Given the description of an element on the screen output the (x, y) to click on. 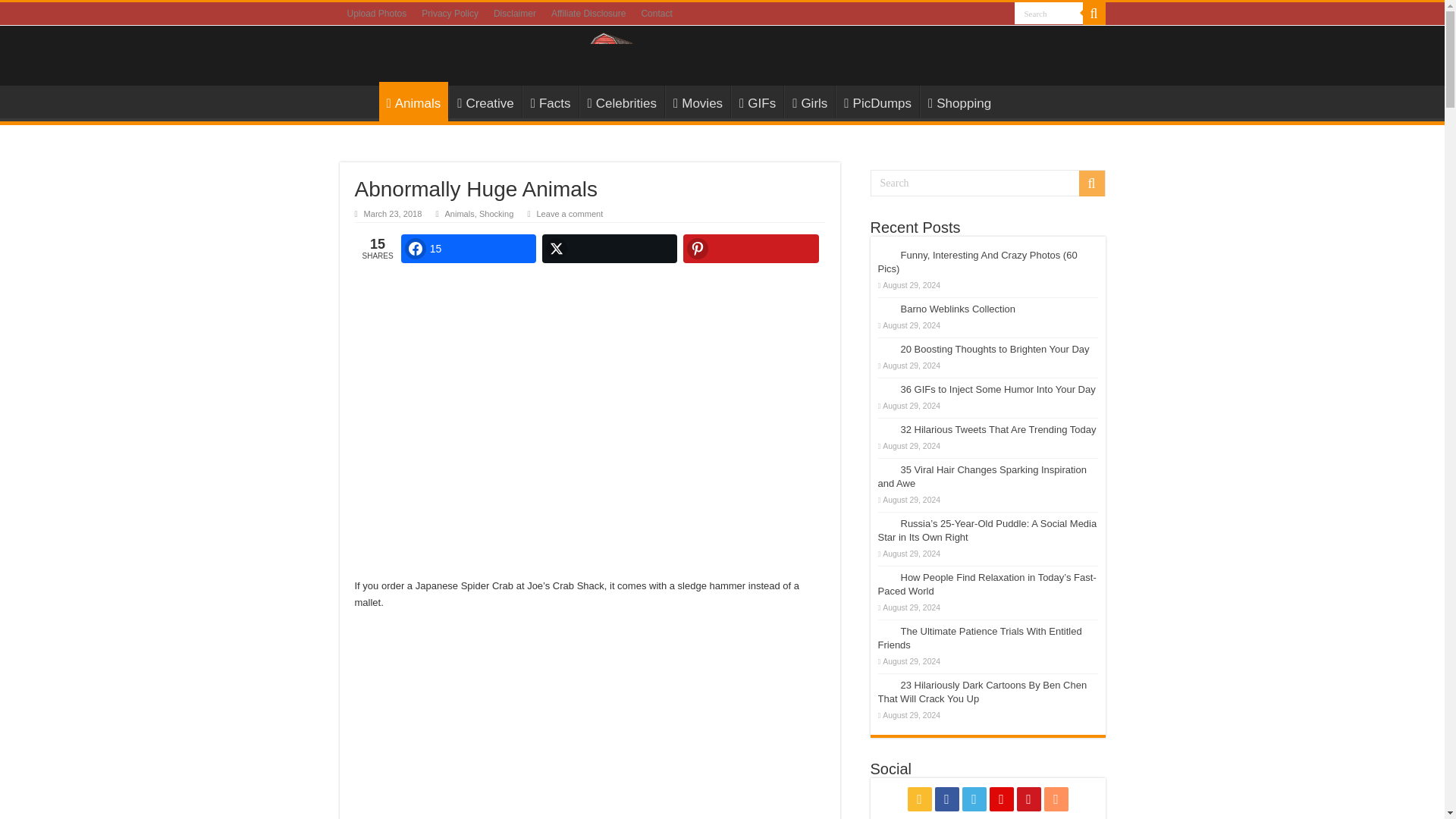
Home (358, 101)
Search (987, 182)
Share on Facebook (468, 248)
Barnorama (722, 51)
Share on Twitter (609, 248)
Creative (484, 101)
Privacy Policy (449, 13)
Menu (358, 101)
Search (1048, 13)
Facts (550, 101)
